Given the description of an element on the screen output the (x, y) to click on. 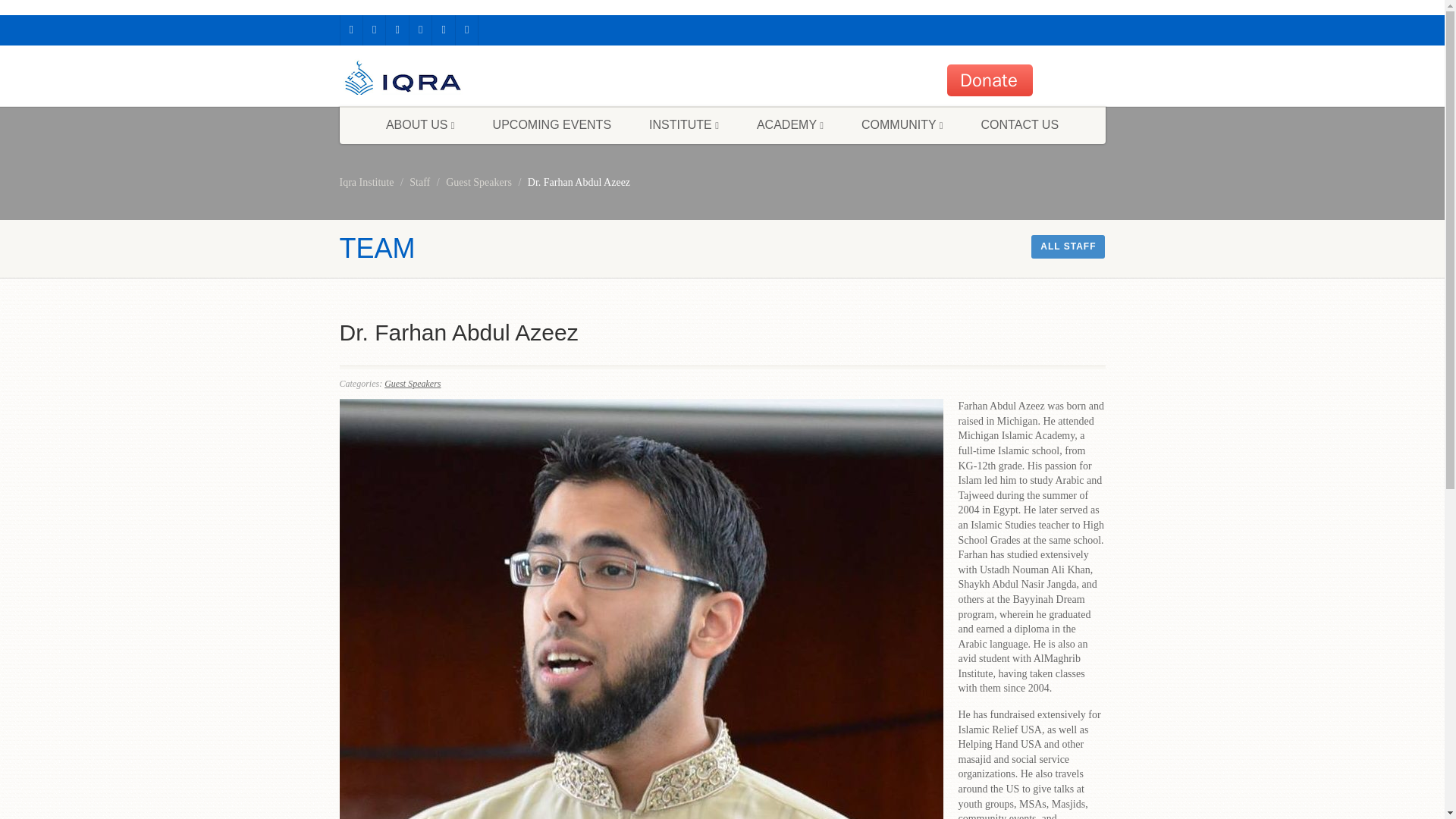
Guest Speakers (412, 383)
Iqra Institute (366, 182)
Go to the Guest Speakers Staff Categories archives. (478, 182)
Staff (419, 182)
Go to Iqra Institute. (366, 182)
COMMUNITY (902, 125)
CONTACT US (1020, 125)
INSTITUTE (684, 125)
ACADEMY (790, 125)
Go to Staff. (419, 182)
Logo (459, 81)
Guest Speakers (478, 182)
ALL STAFF (1067, 246)
ABOUT US (420, 125)
UPCOMING EVENTS (552, 125)
